Given the description of an element on the screen output the (x, y) to click on. 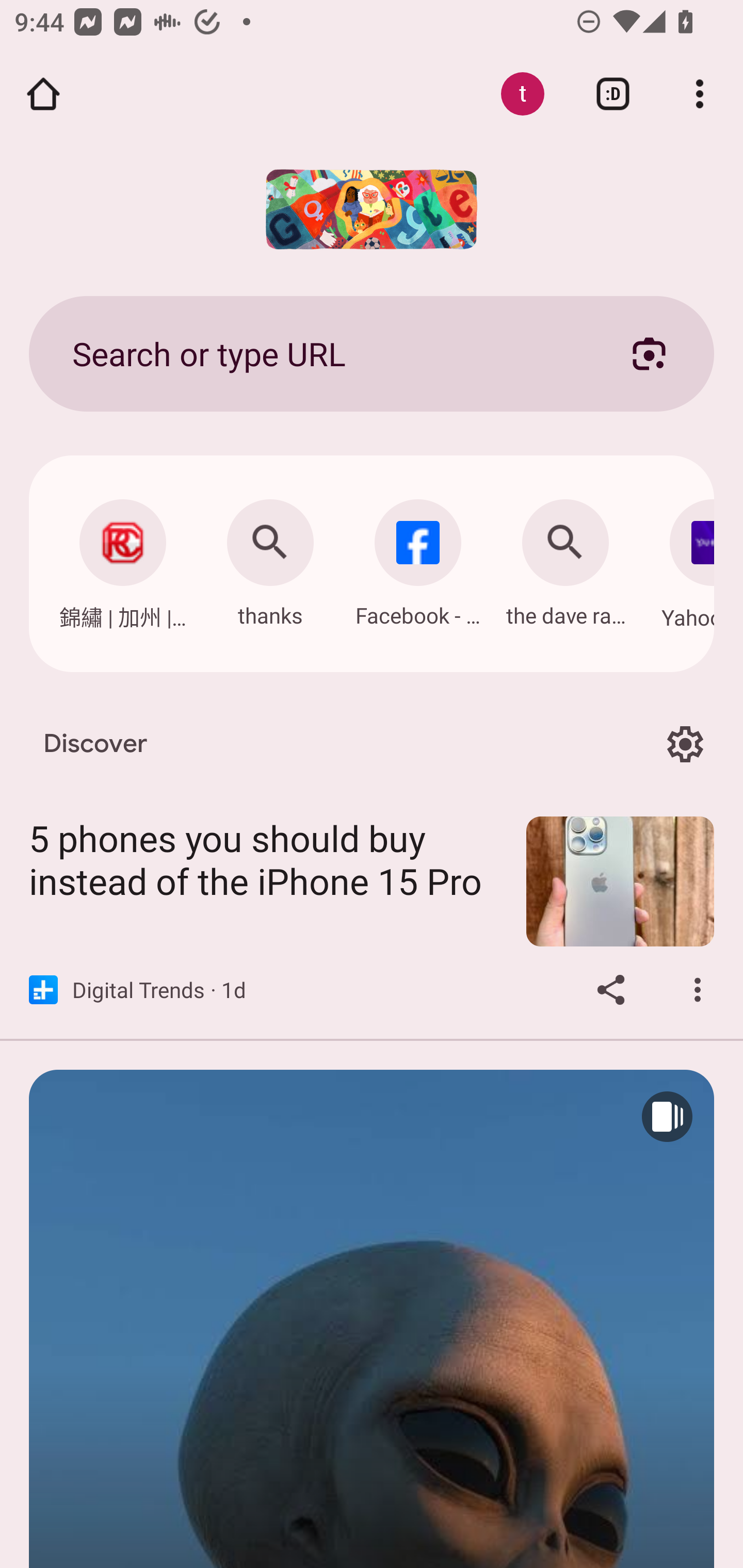
Open the home page (43, 93)
Switch or close tabs (612, 93)
Customize and control Google Chrome (699, 93)
Google doodle: 2024 年国际妇女节 (371, 209)
Search or type URL (327, 353)
Search with your camera using Google Lens (648, 353)
Search: thanks thanks (270, 558)
Search: the dave ramsey show the dave ramsey show (565, 558)
Options for Discover (684, 743)
